Given the description of an element on the screen output the (x, y) to click on. 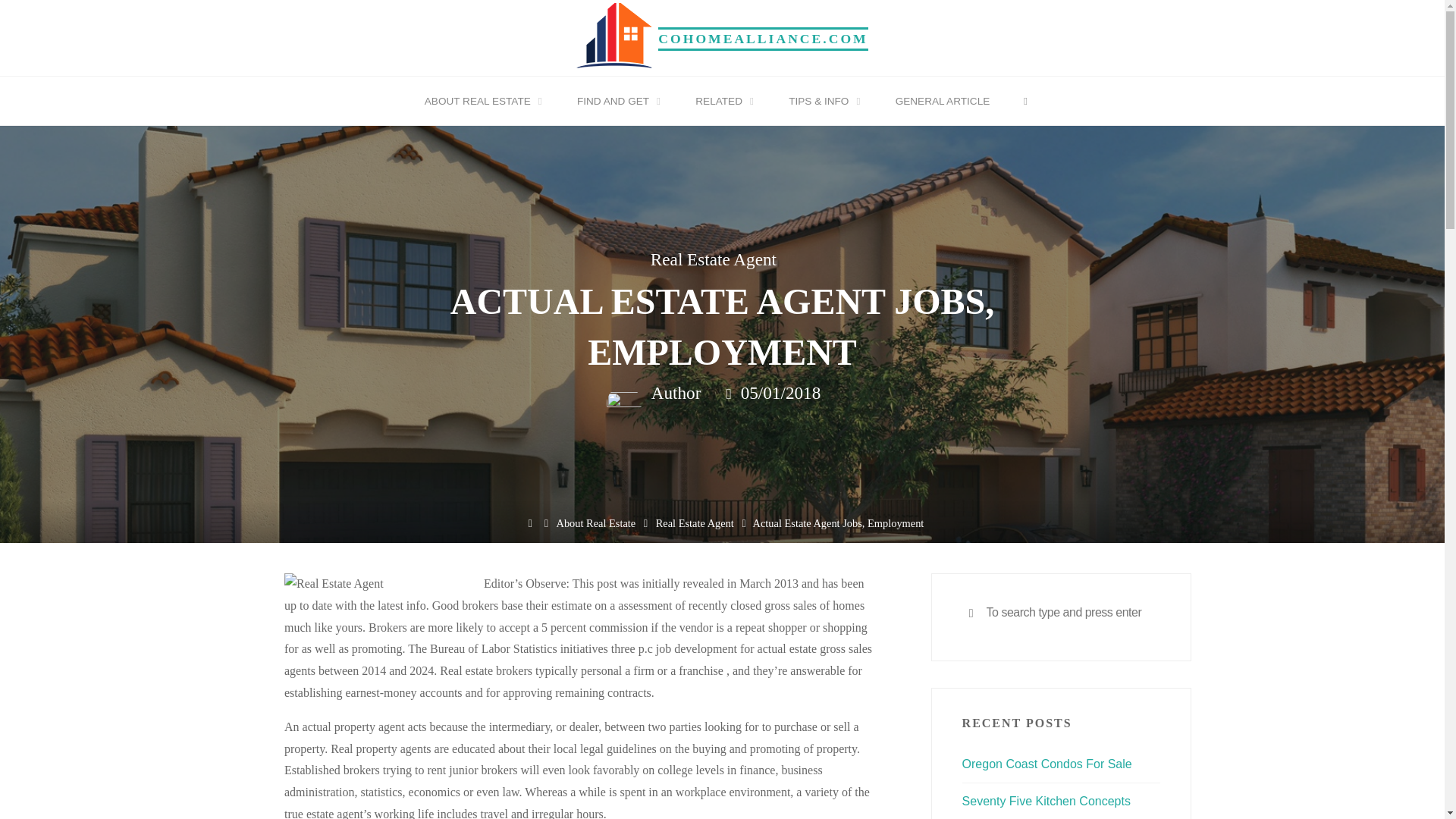
View all posts by Author (673, 393)
Home (530, 522)
Find Your Ideal Home (762, 38)
COHOMEALLIANCE.COM (762, 38)
ABOUT REAL ESTATE (480, 101)
cohomealliance.com (614, 36)
Date (729, 393)
